Given the description of an element on the screen output the (x, y) to click on. 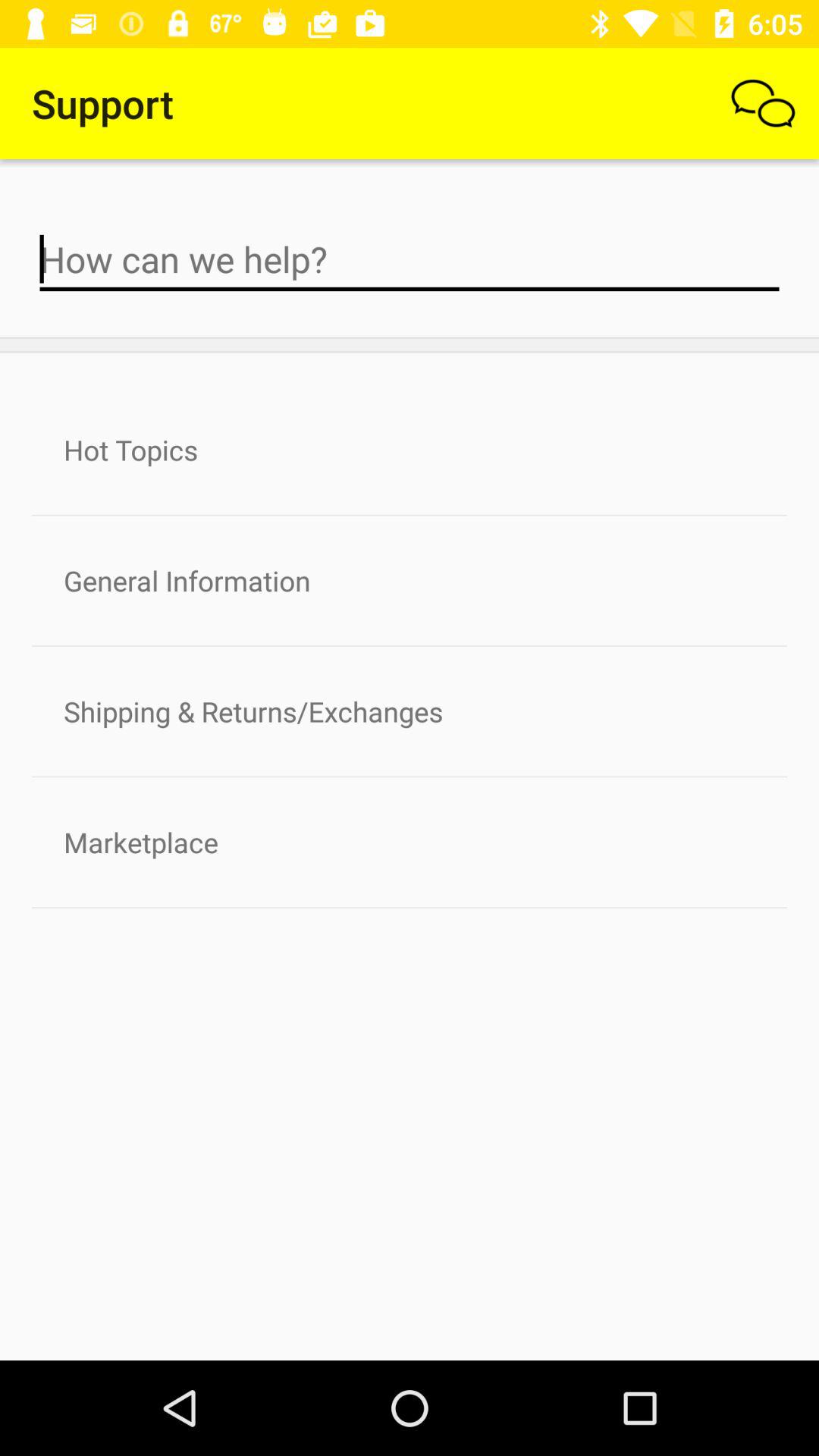
press item to the right of the support item (763, 103)
